Given the description of an element on the screen output the (x, y) to click on. 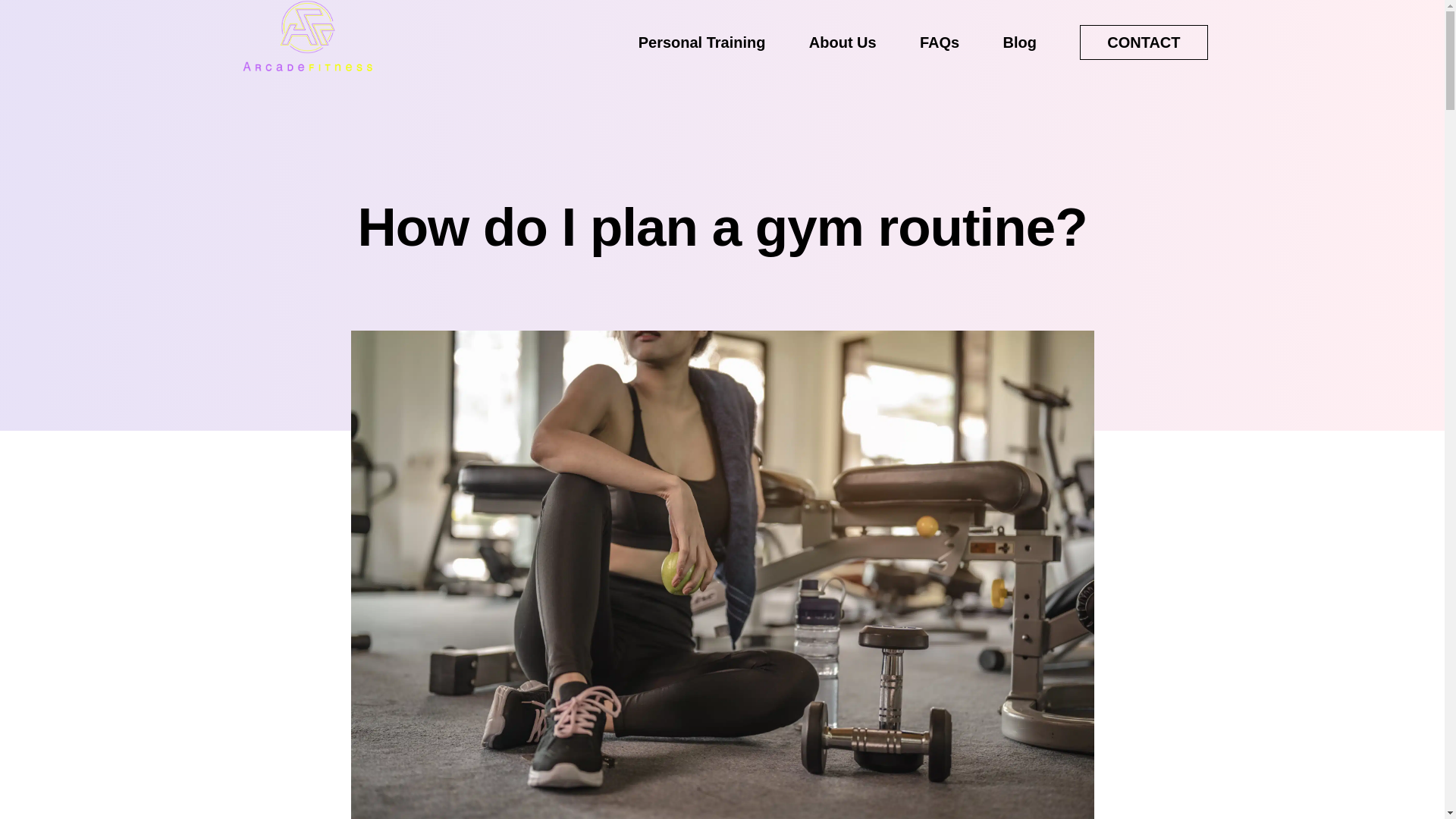
FAQs (939, 54)
About Us (842, 54)
Blog (1019, 54)
Personal Training (702, 54)
CONTACT (1143, 42)
